Given the description of an element on the screen output the (x, y) to click on. 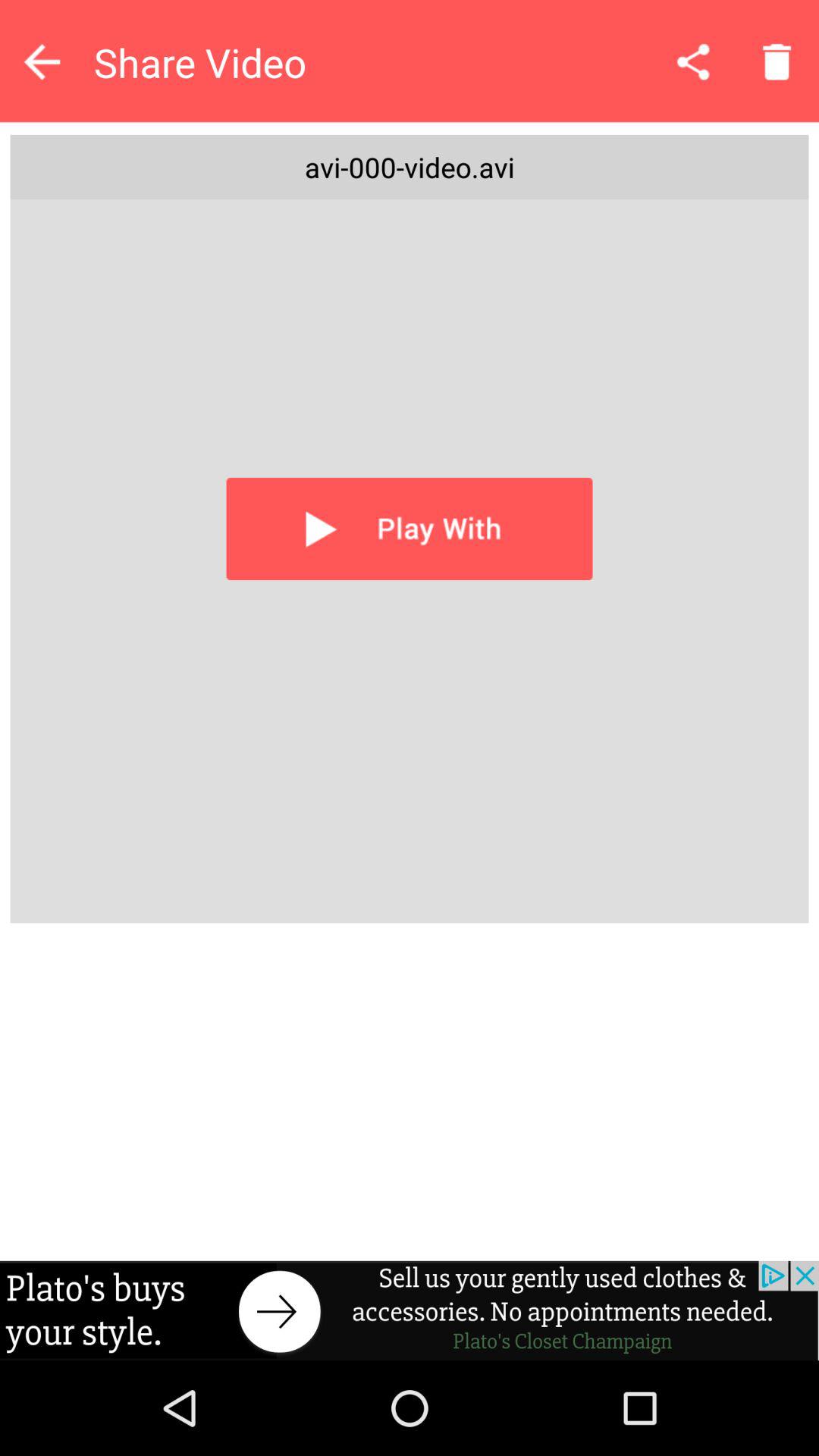
sharing icon (693, 61)
